Given the description of an element on the screen output the (x, y) to click on. 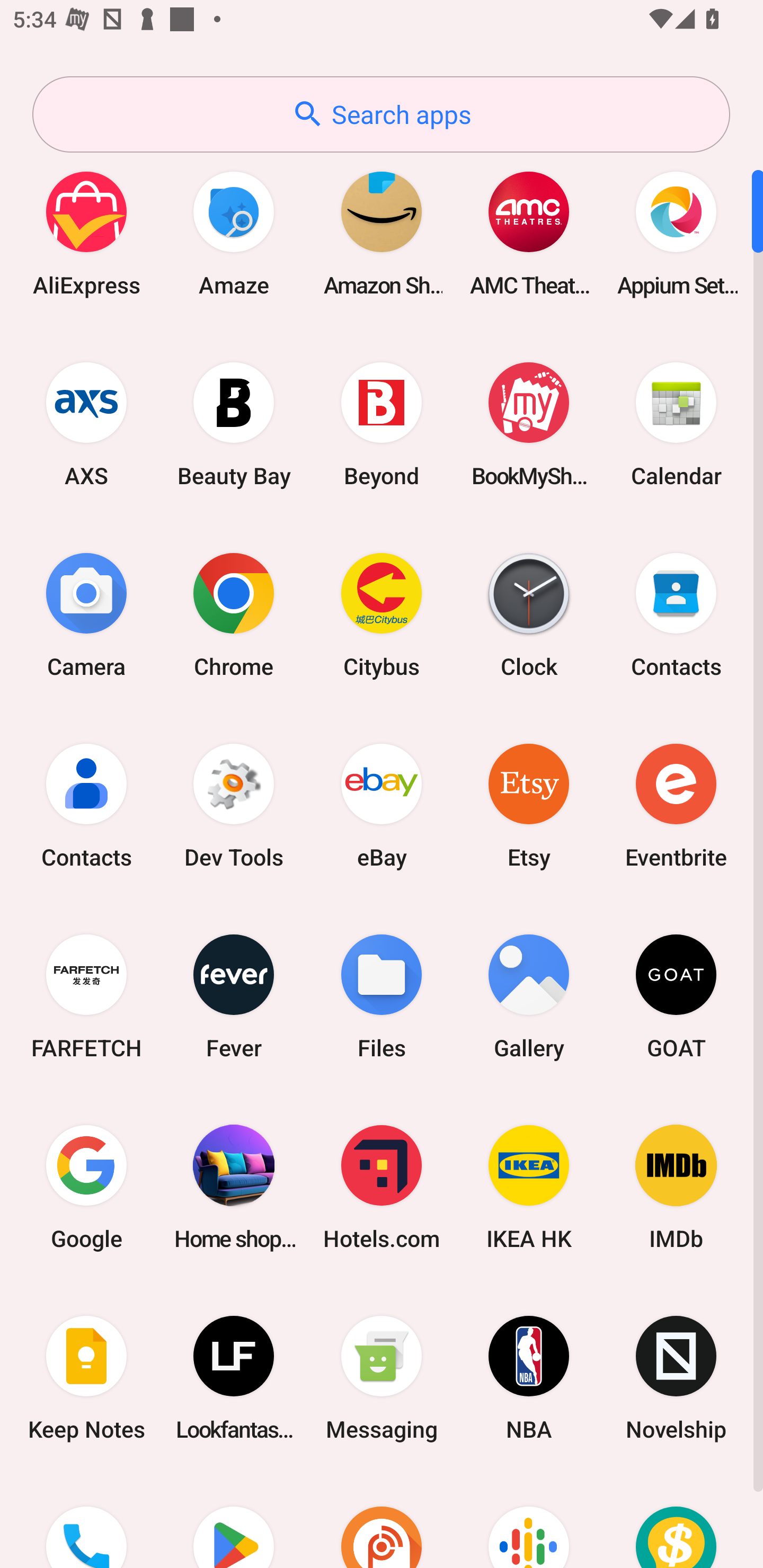
  Search apps (381, 114)
AliExpress (86, 233)
Amaze (233, 233)
Amazon Shopping (381, 233)
AMC Theatres (528, 233)
Appium Settings (676, 233)
AXS (86, 424)
Beauty Bay (233, 424)
Beyond (381, 424)
BookMyShow (528, 424)
Calendar (676, 424)
Camera (86, 614)
Chrome (233, 614)
Citybus (381, 614)
Clock (528, 614)
Contacts (676, 614)
Contacts (86, 805)
Dev Tools (233, 805)
eBay (381, 805)
Etsy (528, 805)
Eventbrite (676, 805)
FARFETCH (86, 996)
Fever (233, 996)
Files (381, 996)
Gallery (528, 996)
GOAT (676, 996)
Google (86, 1186)
Home shopping (233, 1186)
Hotels.com (381, 1186)
IKEA HK (528, 1186)
IMDb (676, 1186)
Keep Notes (86, 1377)
Lookfantastic (233, 1377)
Messaging (381, 1377)
NBA (528, 1377)
Novelship (676, 1377)
Phone (86, 1520)
Play Store (233, 1520)
Podcast Addict (381, 1520)
Podcasts (528, 1520)
Price (676, 1520)
